Given the description of an element on the screen output the (x, y) to click on. 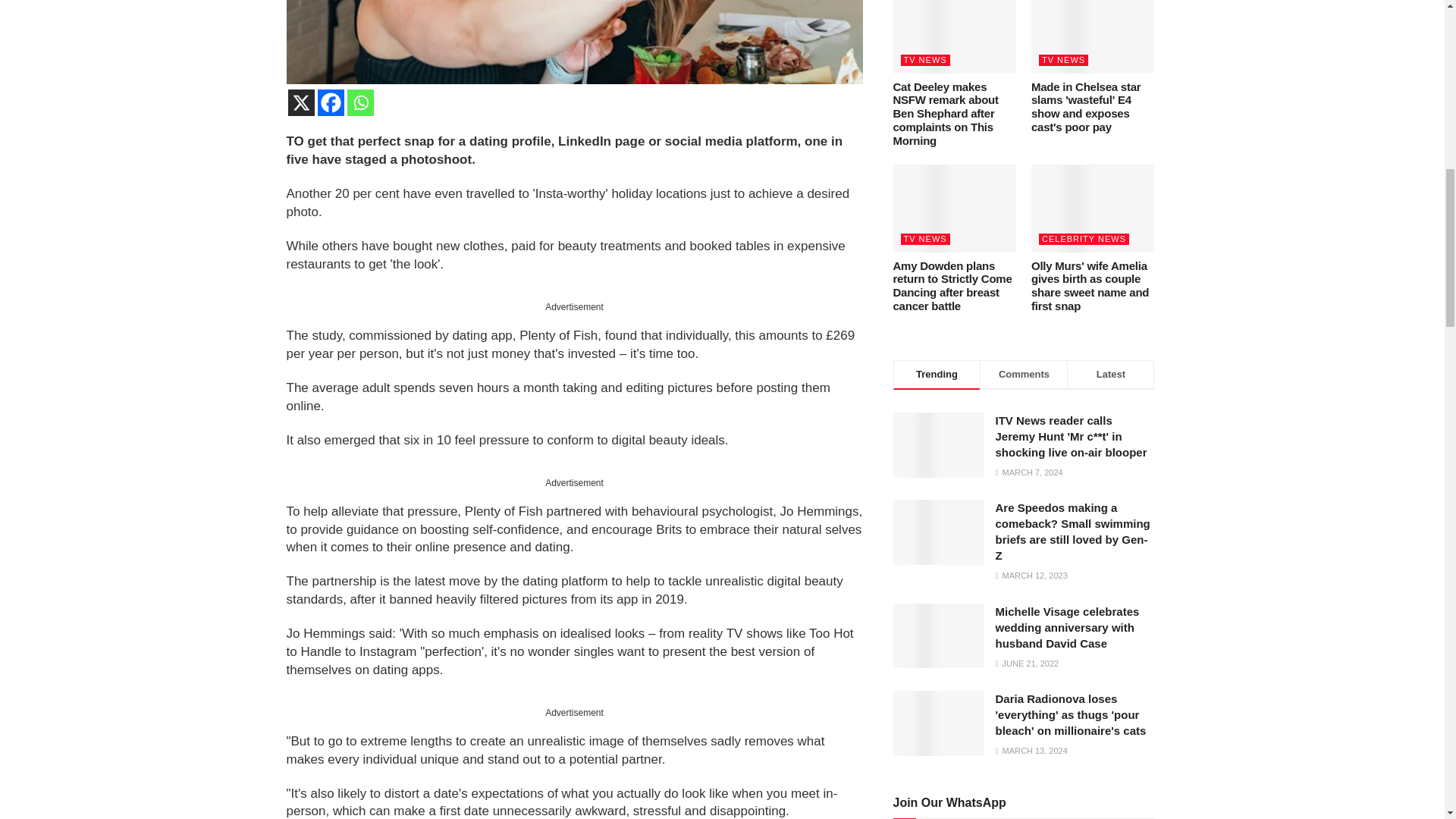
X (301, 102)
Facebook (330, 102)
Whatsapp (360, 102)
